Given the description of an element on the screen output the (x, y) to click on. 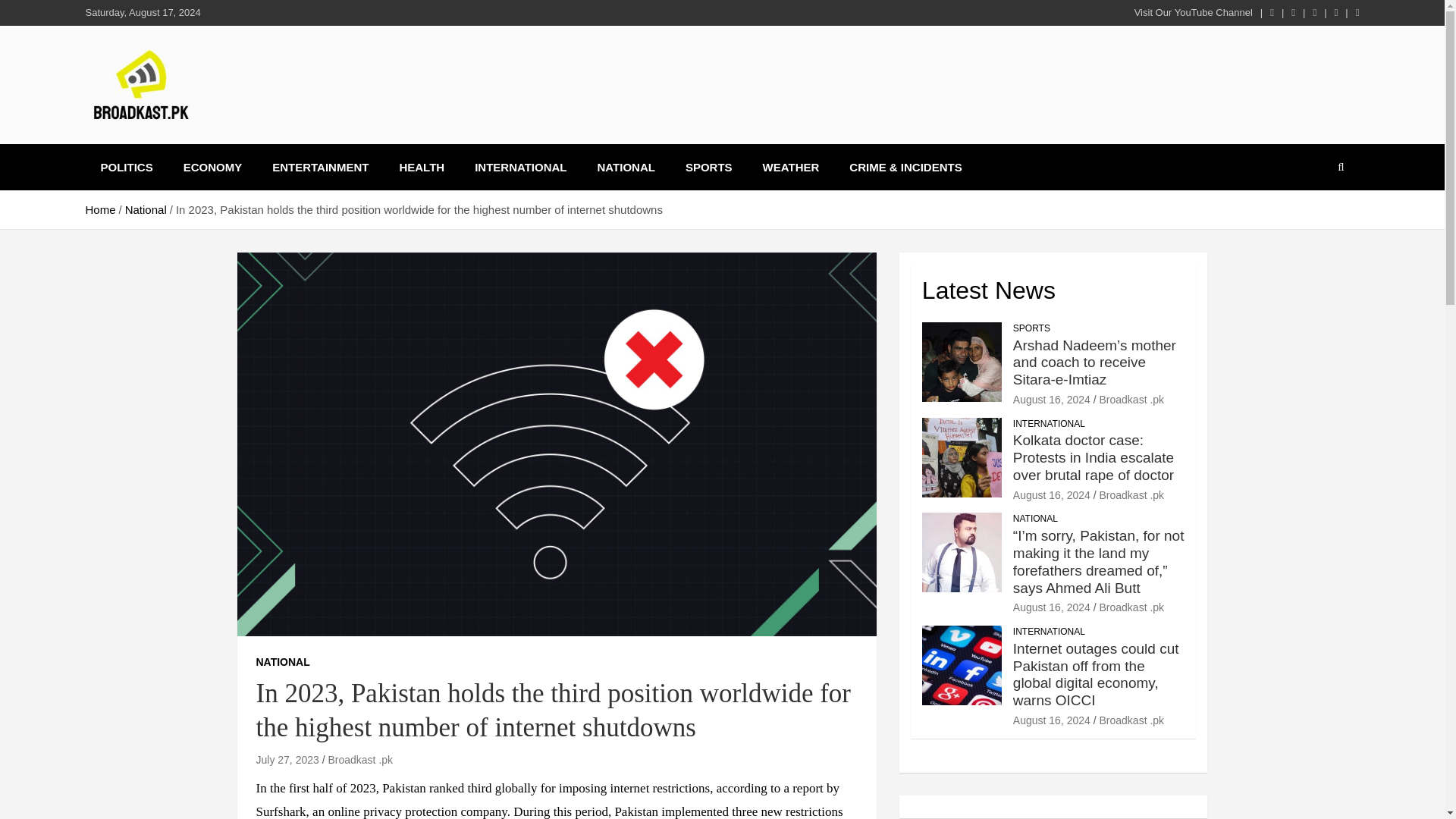
Home (99, 209)
National (146, 209)
INTERNATIONAL (1048, 423)
July 27, 2023 (287, 759)
August 16, 2024 (1051, 399)
Visit Our YouTube Channel (1193, 12)
ECONOMY (212, 167)
WEATHER (791, 167)
HEALTH (422, 167)
INTERNATIONAL (520, 167)
